Given the description of an element on the screen output the (x, y) to click on. 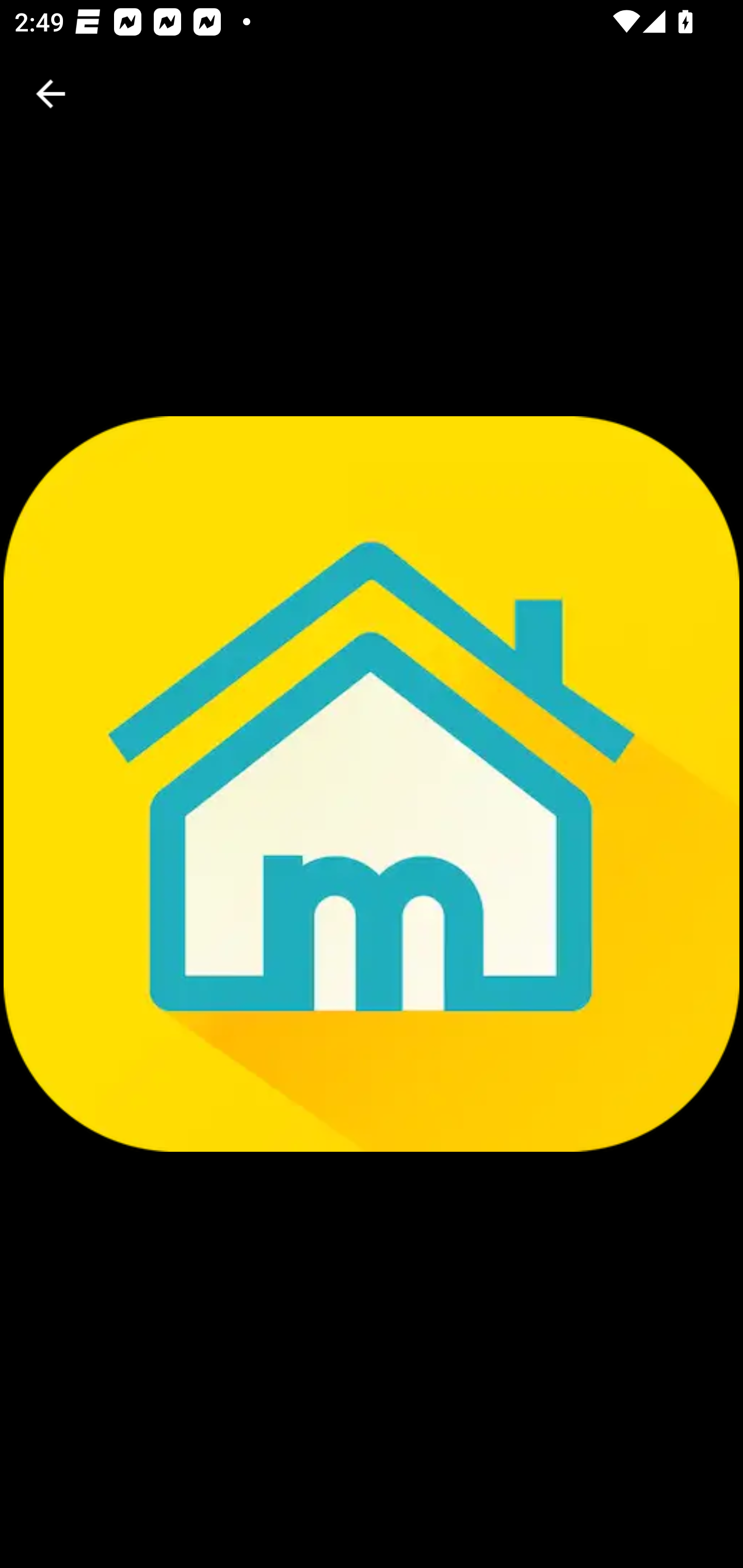
Back (50, 93)
